Given the description of an element on the screen output the (x, y) to click on. 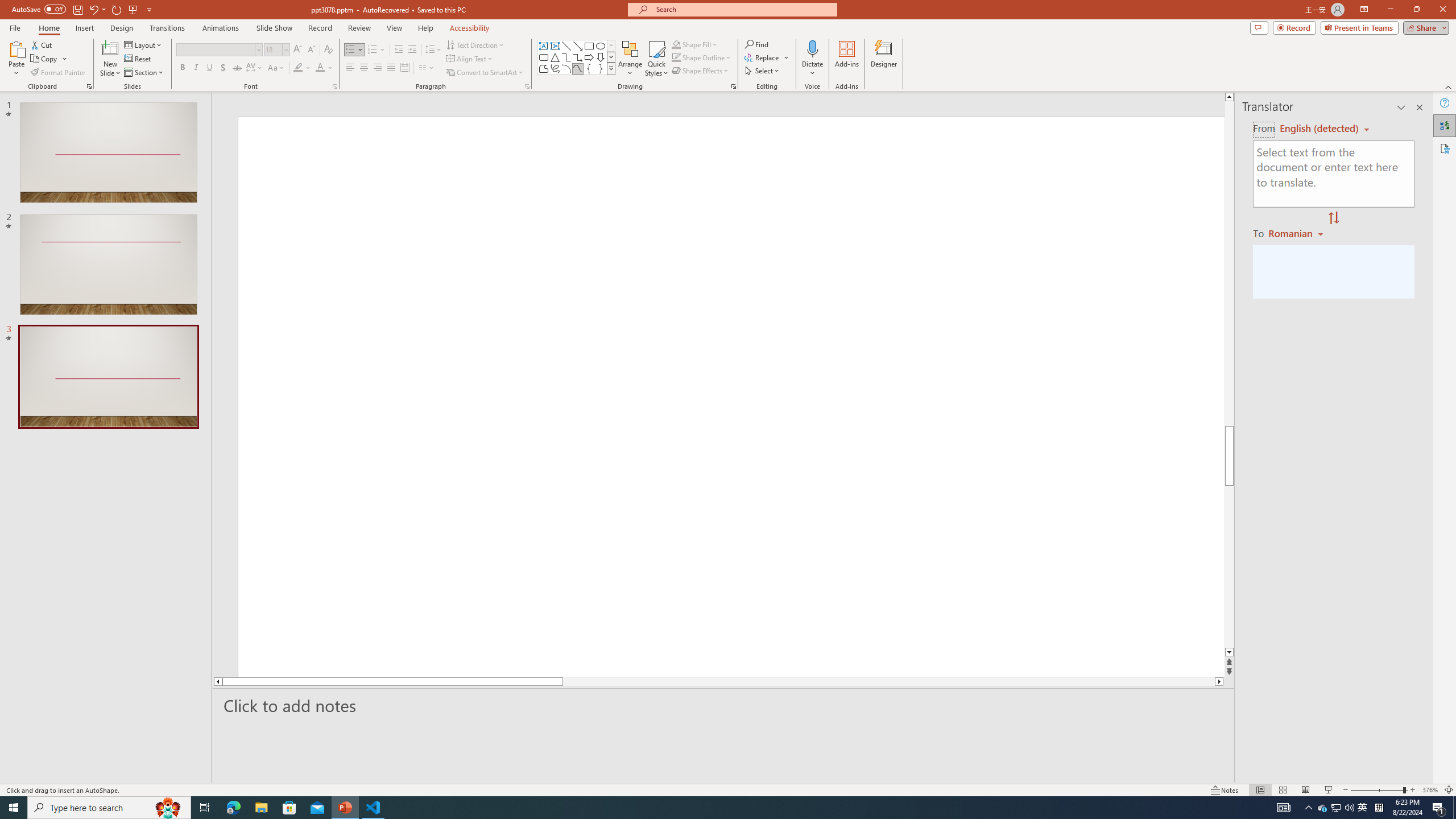
Shape Outline Green, Accent 1 (675, 56)
Redo (117, 9)
Format Painter (58, 72)
Right Brace (600, 68)
More Options (812, 68)
Zoom Out (1377, 790)
Clear Formatting (327, 49)
Rectangle (589, 45)
Reading View (1305, 790)
Text Box (543, 45)
Present in Teams (1359, 27)
Left Brace (589, 68)
Font (219, 49)
